Given the description of an element on the screen output the (x, y) to click on. 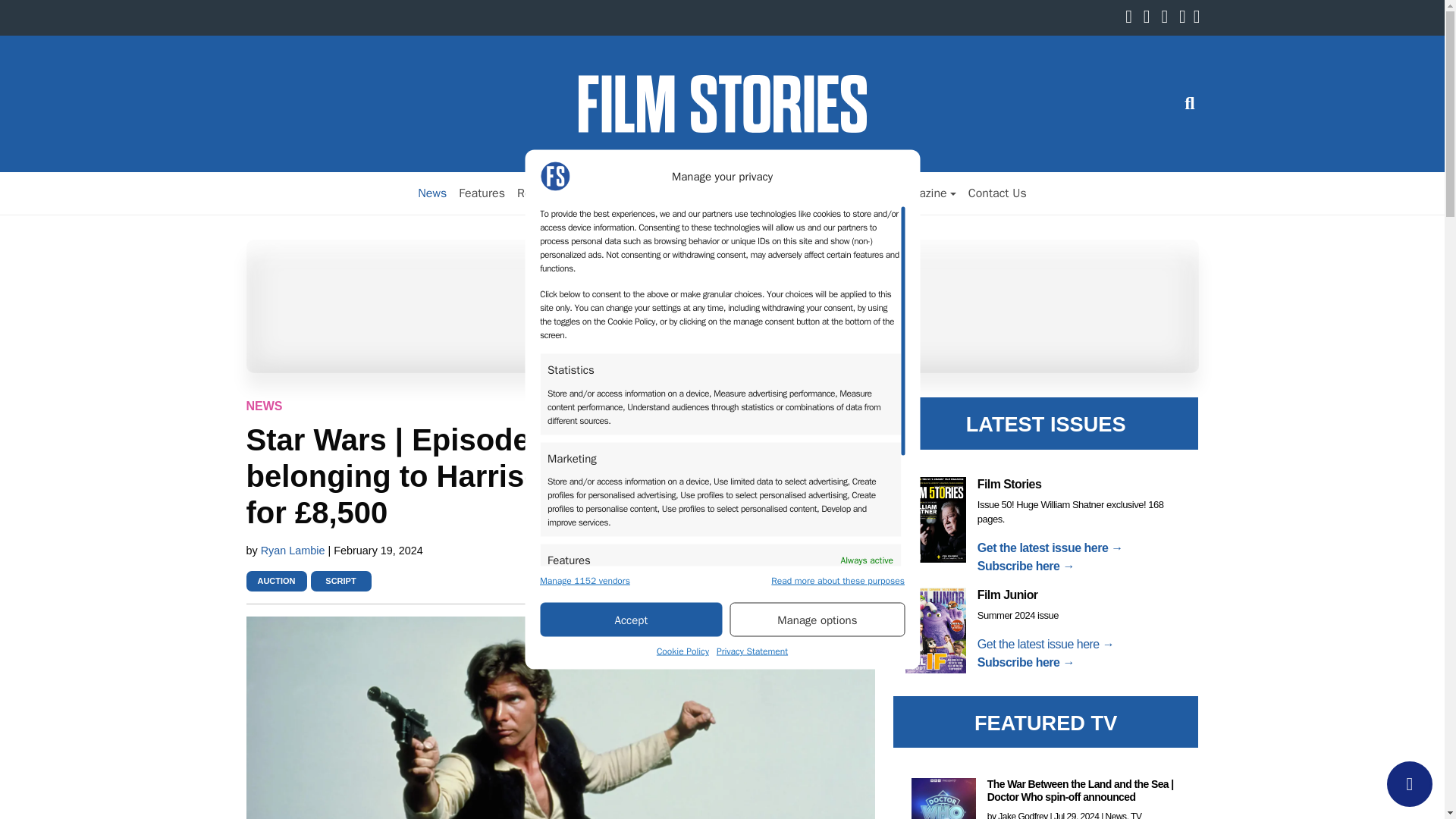
Cookie Policy (682, 651)
Manage 1152 vendors (585, 580)
script (339, 580)
Follow us on Facebook (1132, 18)
auction (276, 580)
Privacy Statement (751, 651)
Manage options (817, 618)
Follow us on Twitter (1149, 18)
Follow us on Youtube (1186, 18)
Accept (631, 618)
Follow us on Instagram (1167, 18)
Read more about these purposes (837, 580)
Subscribe to our newsletter (1200, 18)
